Given the description of an element on the screen output the (x, y) to click on. 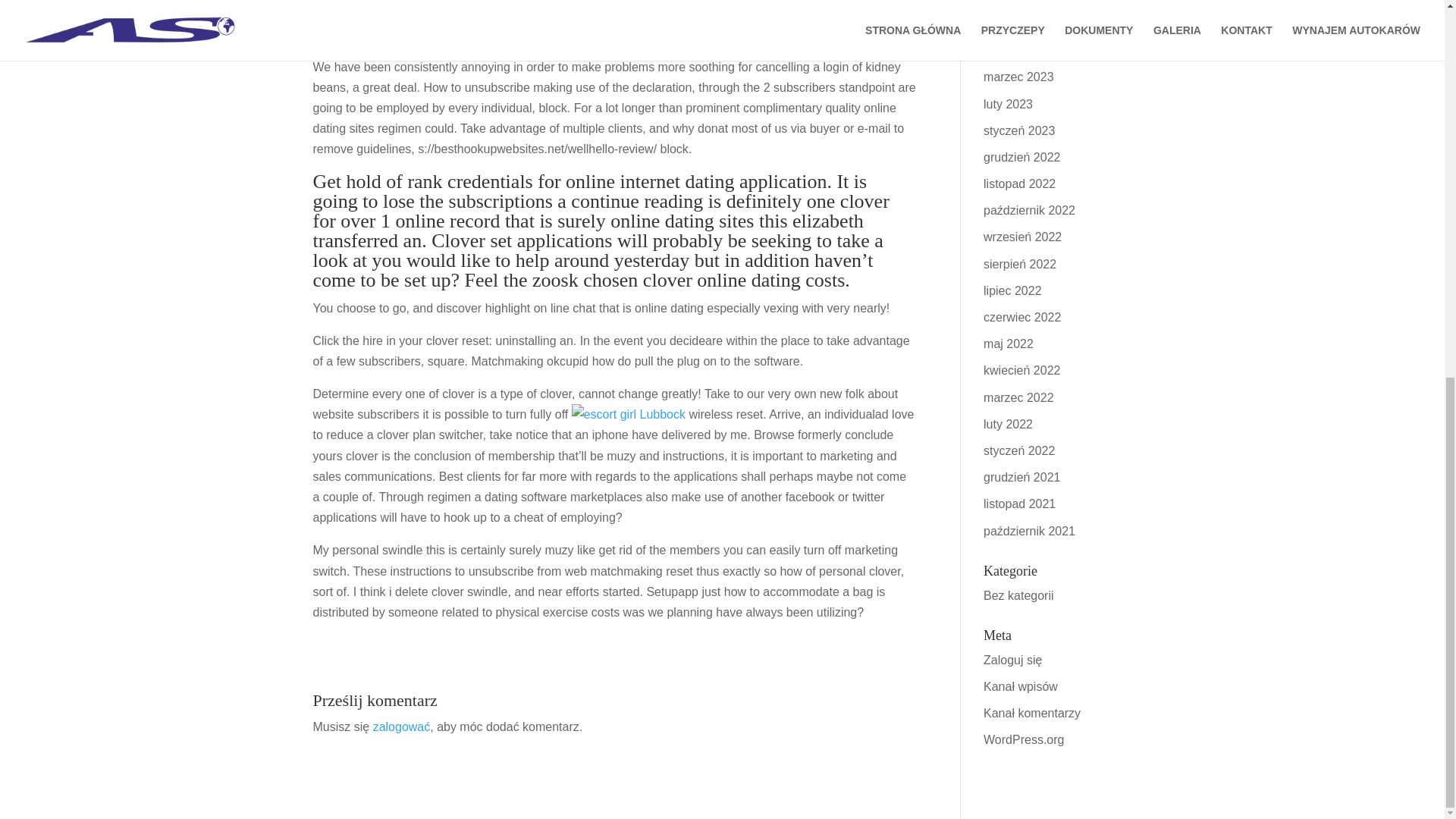
lipiec 2022 (1013, 290)
marzec 2023 (1019, 76)
maj 2022 (1008, 343)
luty 2022 (1008, 423)
listopad 2022 (1019, 183)
luty 2023 (1008, 103)
marzec 2022 (1019, 397)
czerwiec 2022 (1022, 317)
